Given the description of an element on the screen output the (x, y) to click on. 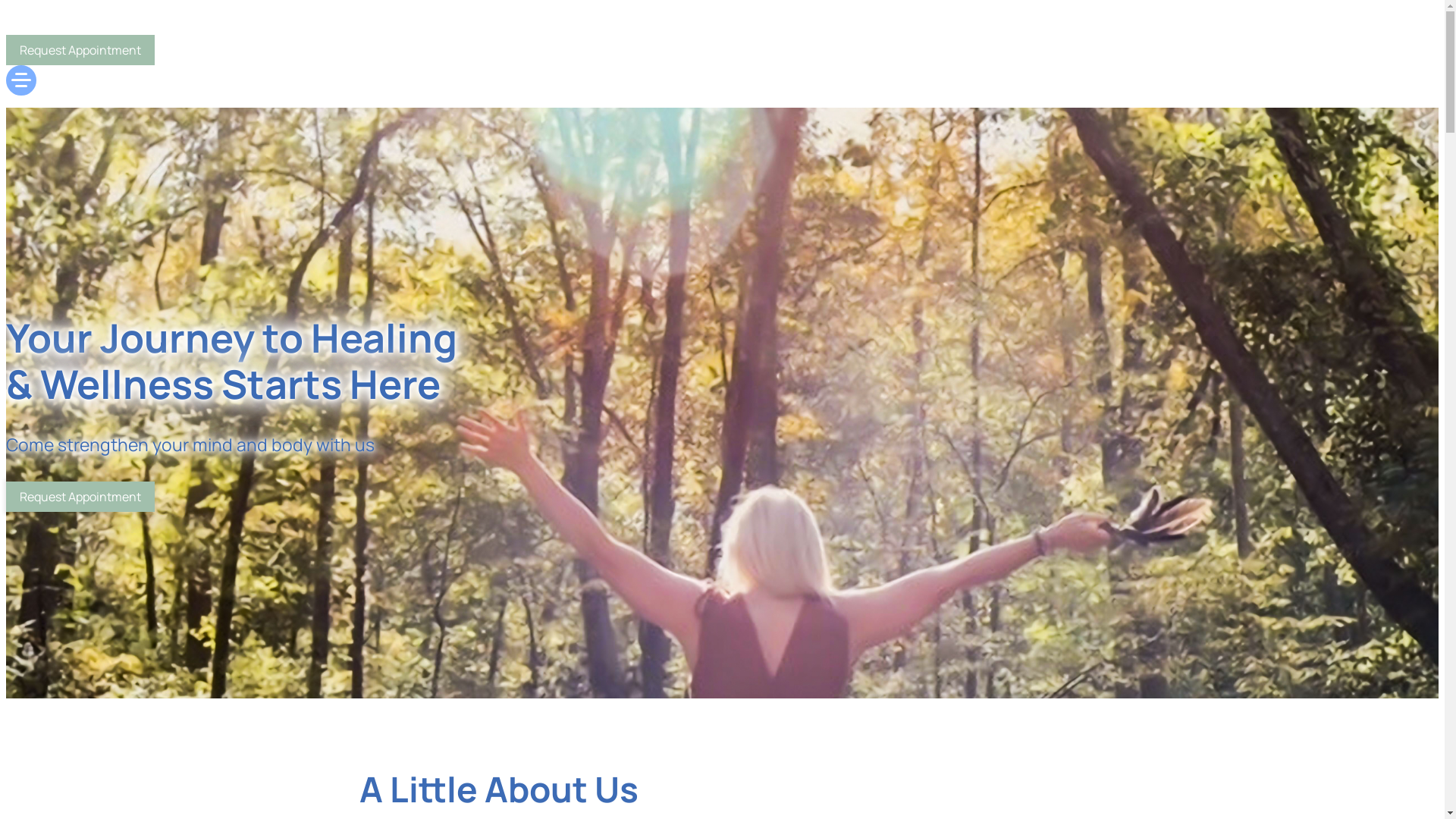
Request Appointment Element type: text (80, 49)
Request Appointment Element type: text (80, 496)
